Given the description of an element on the screen output the (x, y) to click on. 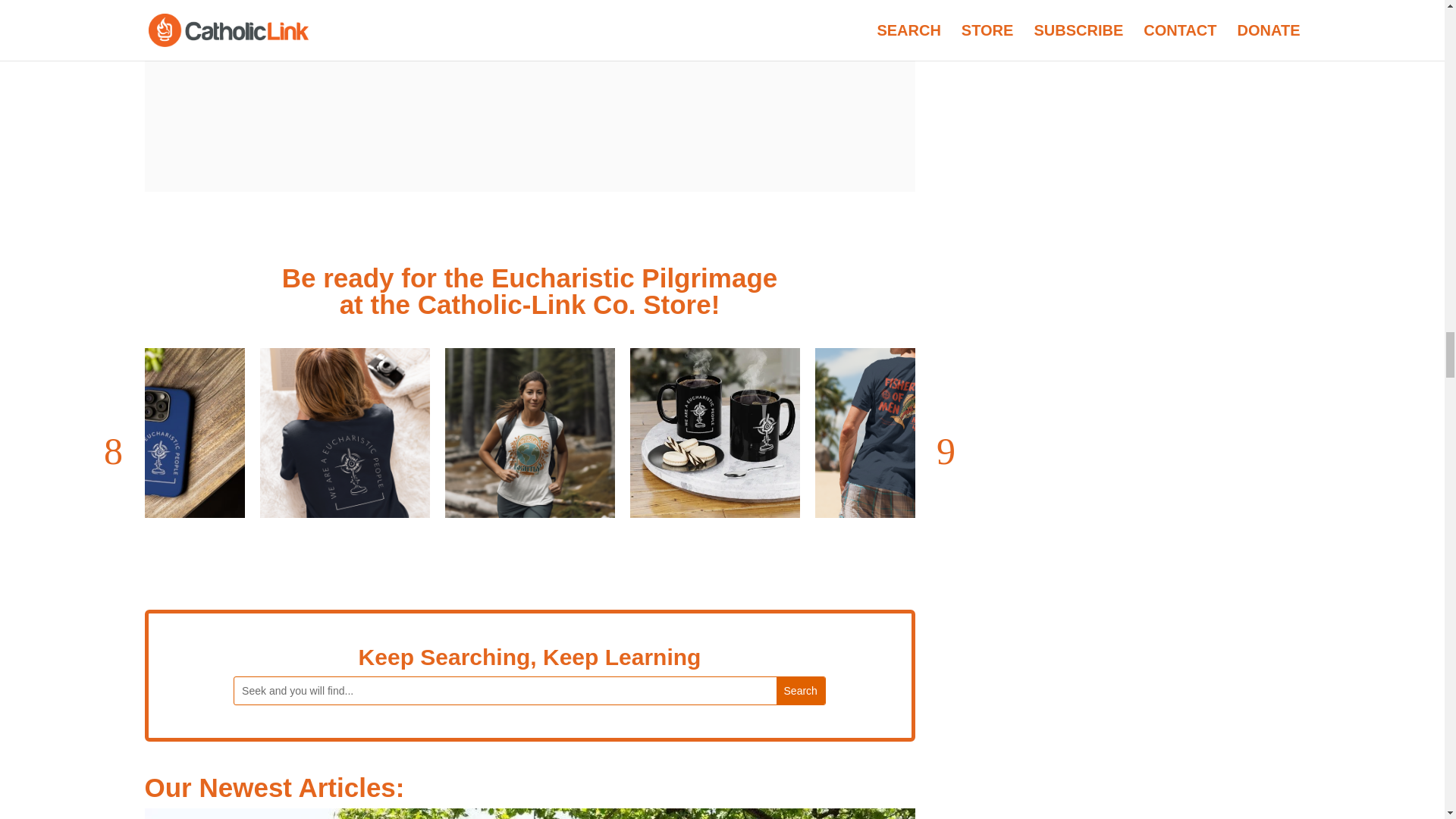
Search (800, 690)
Search (800, 690)
Search (800, 690)
